Given the description of an element on the screen output the (x, y) to click on. 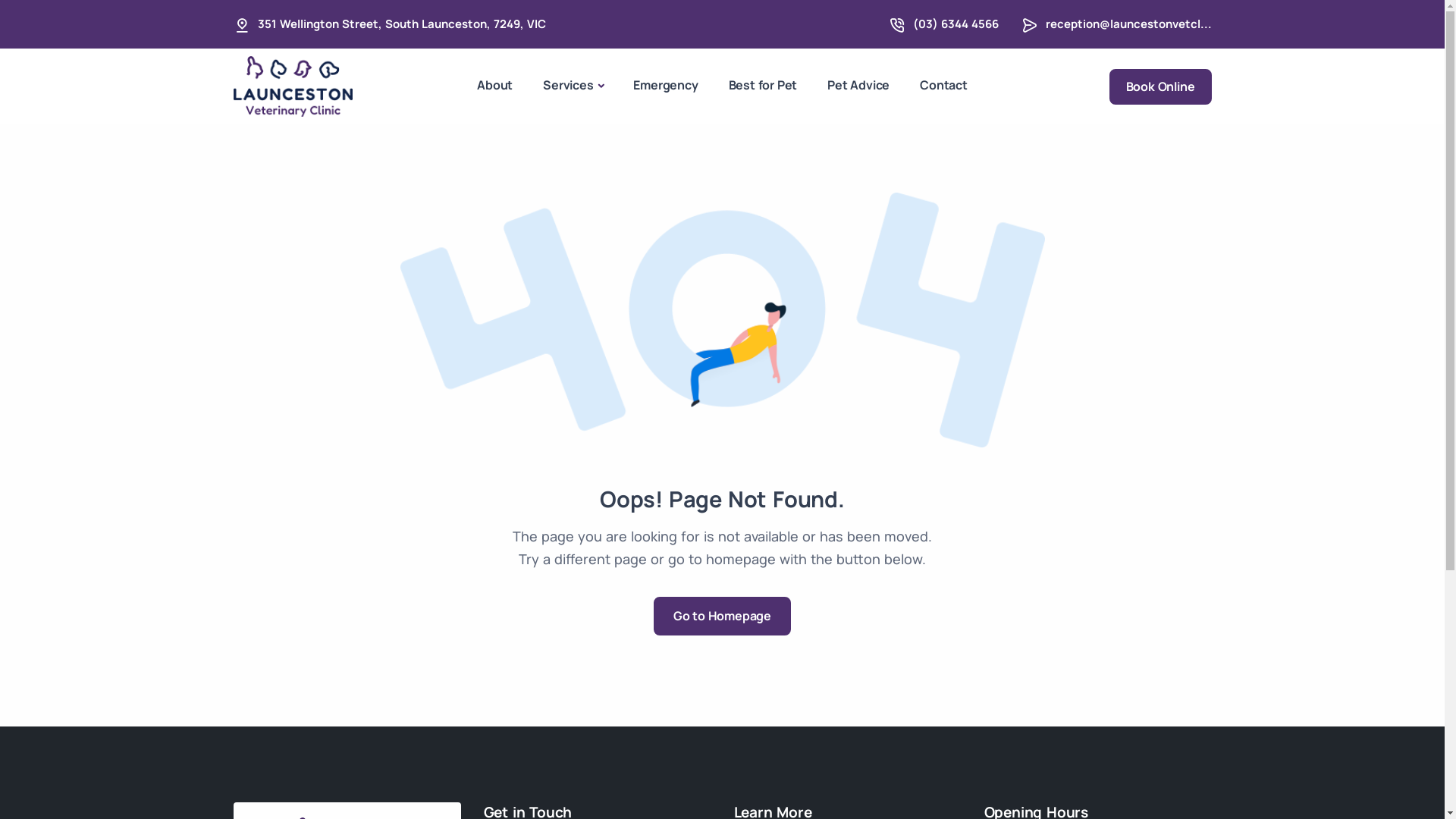
Emergency Element type: text (665, 84)
reception@launcestonvetcl... Element type: text (1127, 23)
Pet Advice Element type: text (858, 84)
Best for Pet Element type: text (762, 84)
Book Online Element type: text (1160, 86)
(03) 6344 4566 Element type: text (955, 23)
Contact Element type: text (943, 84)
Services Element type: text (572, 86)
351 Wellington Street, South Launceston, 7249, VIC Element type: text (401, 23)
About Element type: text (494, 84)
Go to Homepage Element type: text (721, 615)
